Given the description of an element on the screen output the (x, y) to click on. 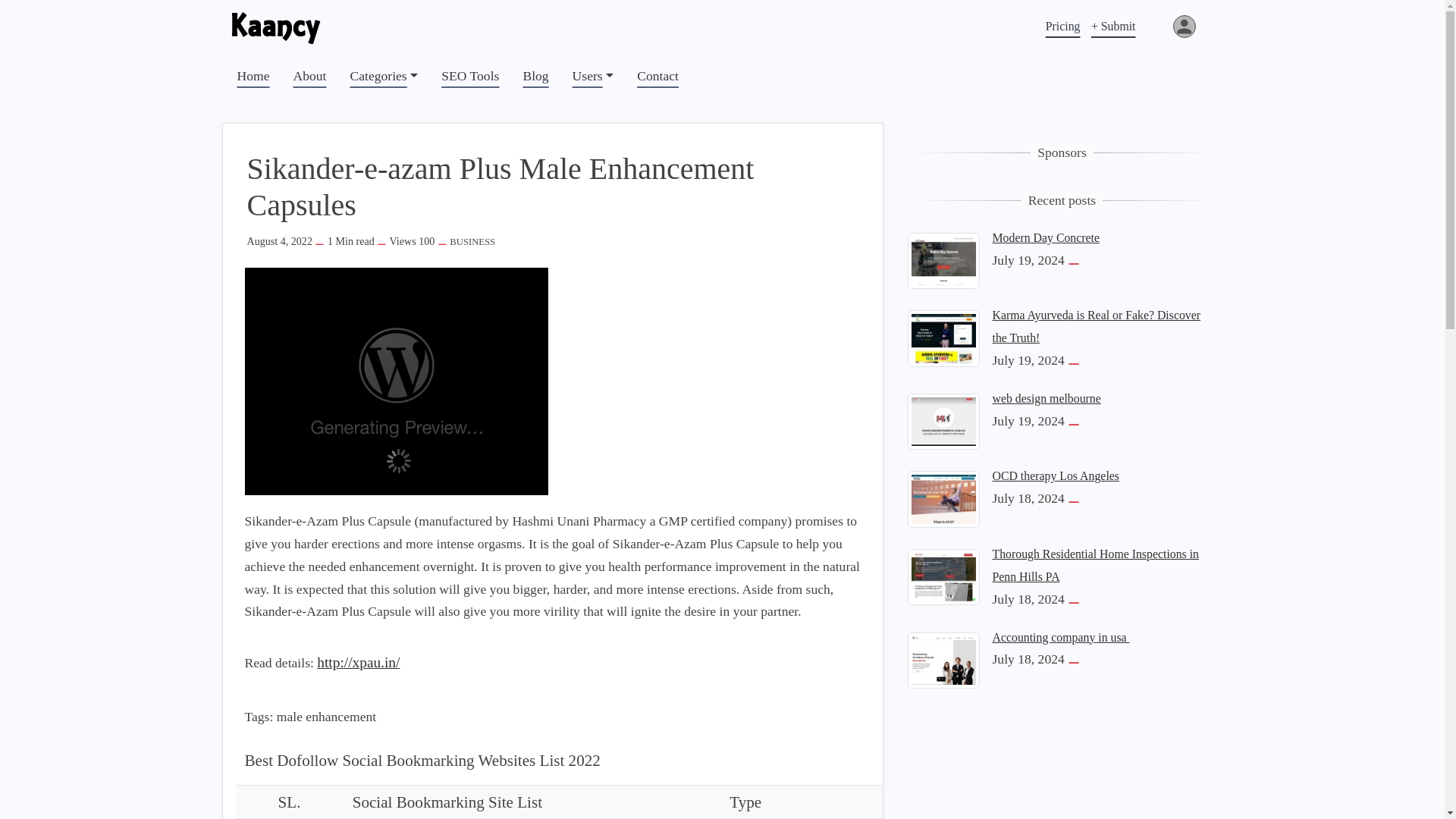
About (308, 76)
BUSINESS (472, 241)
Karma Ayurveda is Real or Fake? Discover the Truth! (943, 336)
Thorough Residential Home Inspections in Penn Hills PA (1094, 565)
Contact (657, 76)
Home (252, 76)
Thorough Residential Home Inspections in Penn Hills PA (943, 575)
SEO Tools (470, 76)
Karma Ayurveda is Real or Fake? Discover the Truth! (1095, 325)
Modern Day Concrete (1045, 237)
web design melbourne (1045, 398)
web design melbourne (943, 419)
Blog (535, 76)
Pricing (1063, 25)
